Given the description of an element on the screen output the (x, y) to click on. 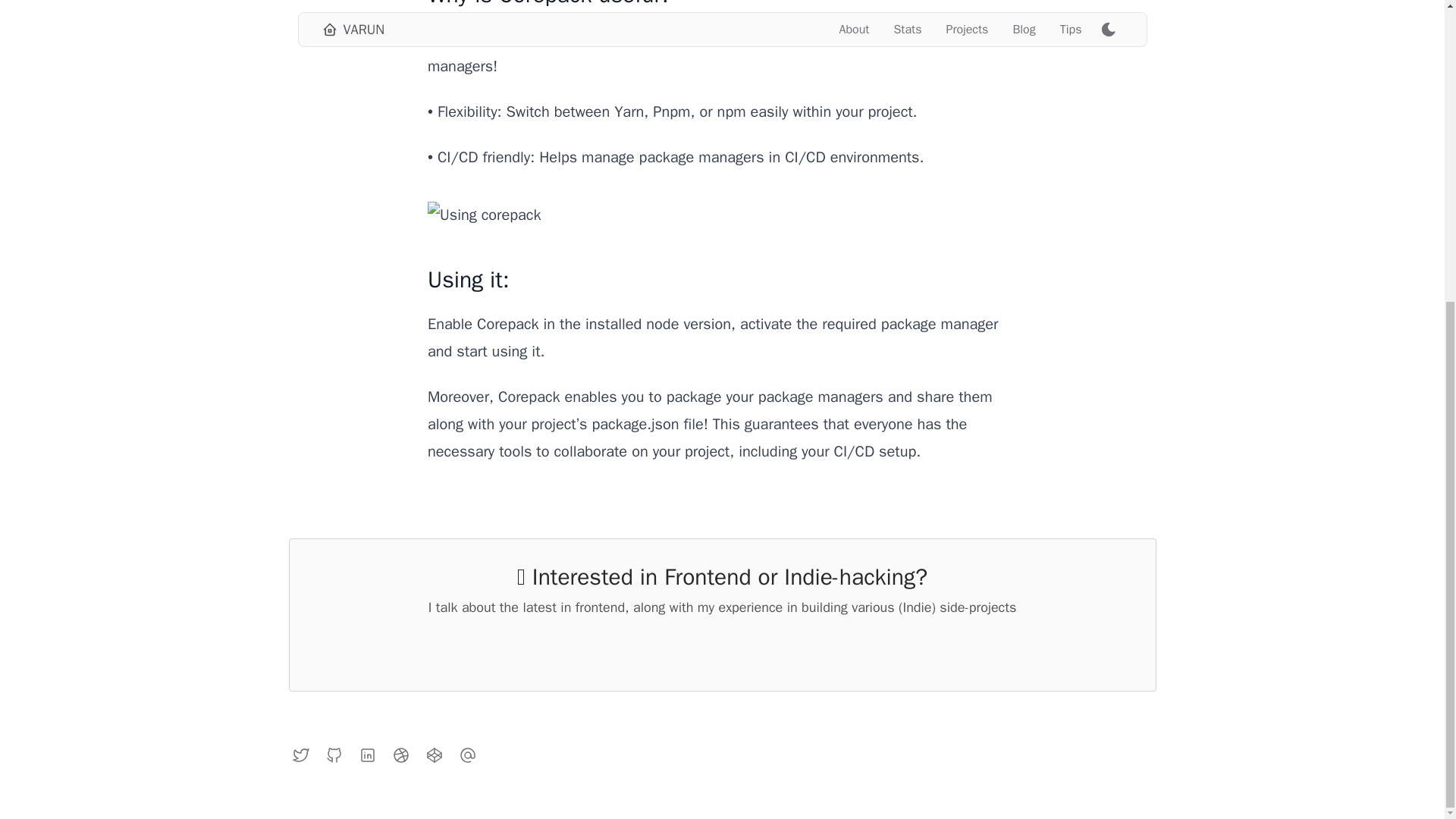
Dribbble (399, 755)
Twitter (300, 755)
GitHub (333, 755)
Mail (466, 755)
Codepen (433, 755)
LinkedIn (366, 755)
